Given the description of an element on the screen output the (x, y) to click on. 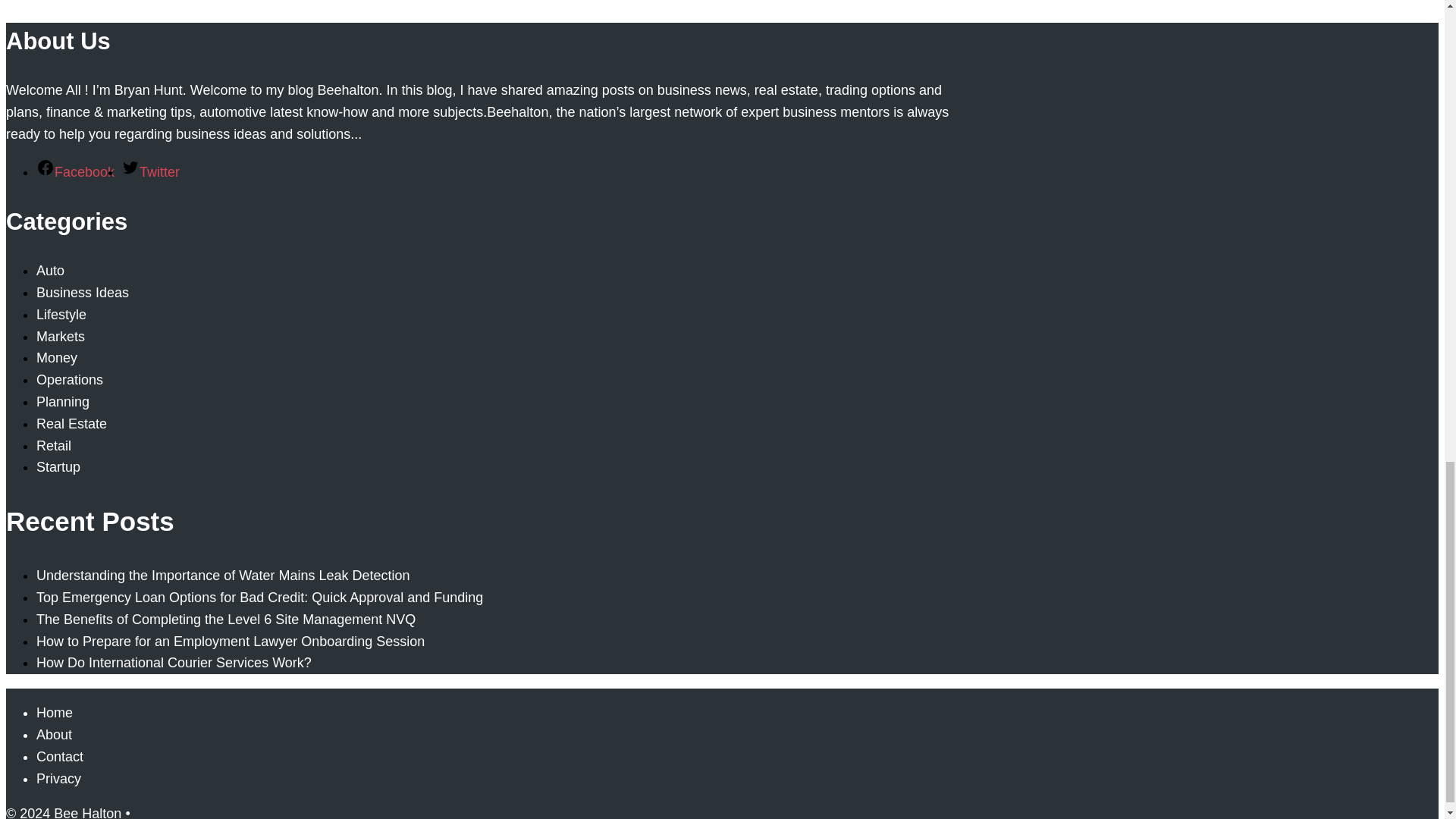
Operations (69, 379)
Contact (59, 756)
Retail (53, 445)
Home (54, 712)
Startup (58, 467)
Understanding the Importance of Water Mains Leak Detection (223, 575)
Twitter (149, 171)
Markets (60, 336)
Facebook (75, 171)
Scroll back to top (1406, 455)
Planning (62, 401)
Lifestyle (60, 314)
How Do International Courier Services Work? (173, 662)
The Benefits of Completing the Level 6 Site Management NVQ (225, 619)
Auto (50, 270)
